Given the description of an element on the screen output the (x, y) to click on. 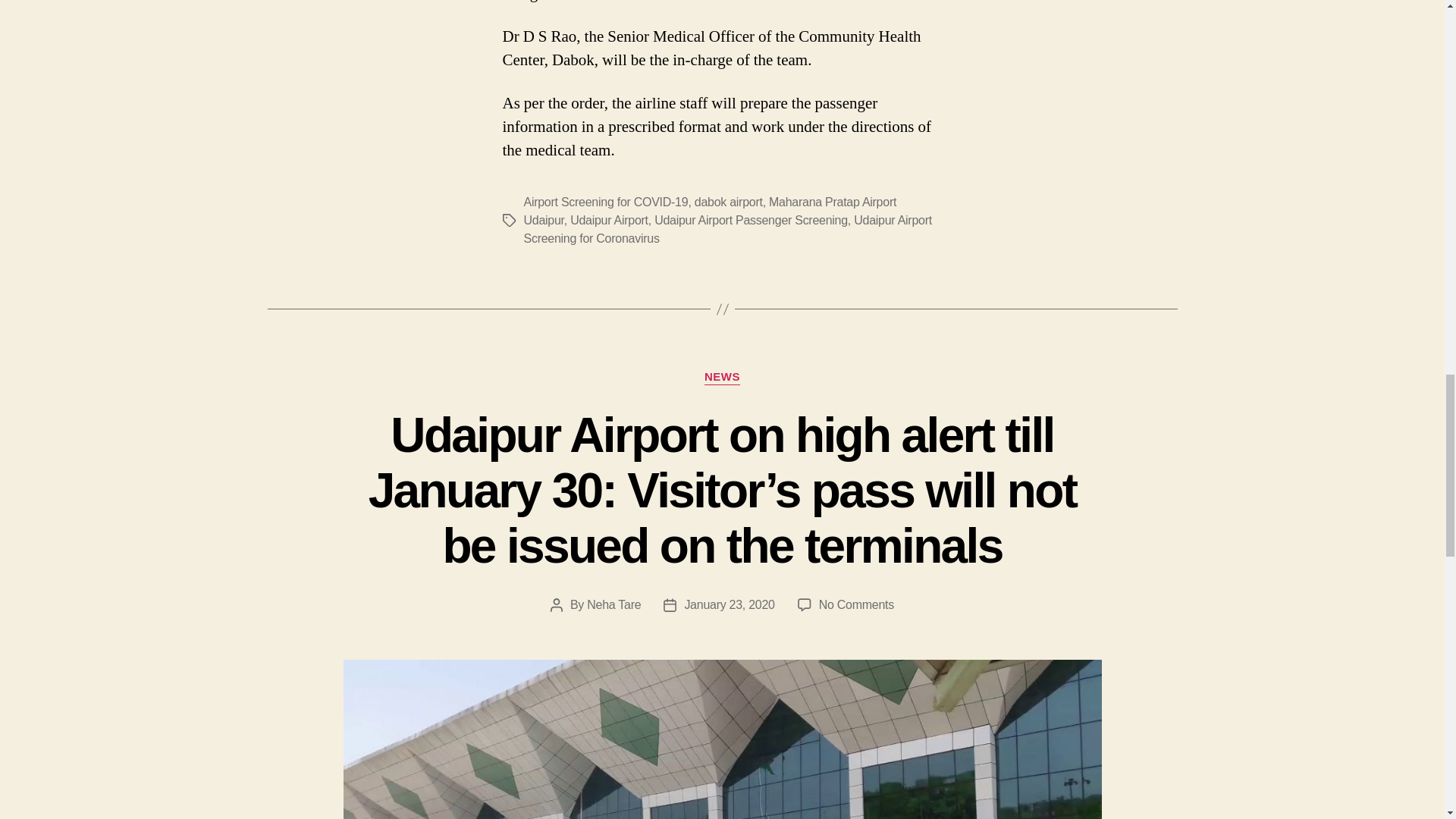
Udaipur Airport (608, 219)
Airport Screening for COVID-19 (604, 201)
dabok airport (728, 201)
Maharana Pratap Airport Udaipur (709, 210)
NEWS (721, 377)
Udaipur Airport Passenger Screening (750, 219)
Udaipur Airport Screening for Coronavirus (726, 228)
